Given the description of an element on the screen output the (x, y) to click on. 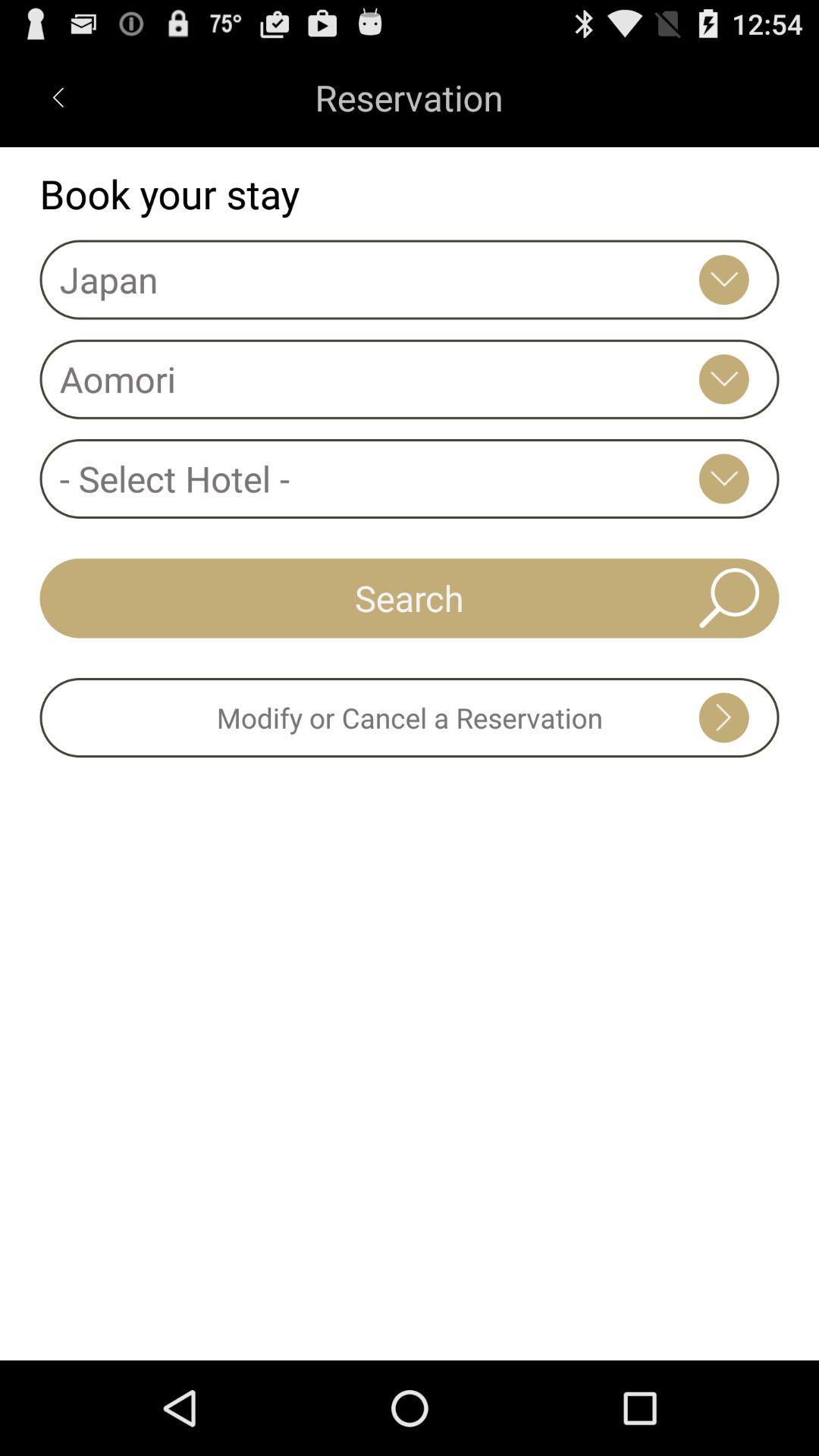
click on search option (729, 597)
select the 1st down arrow (724, 279)
select the 2nd scroll down icon (724, 378)
select the left scroll from the top left corner (58, 96)
